Given the description of an element on the screen output the (x, y) to click on. 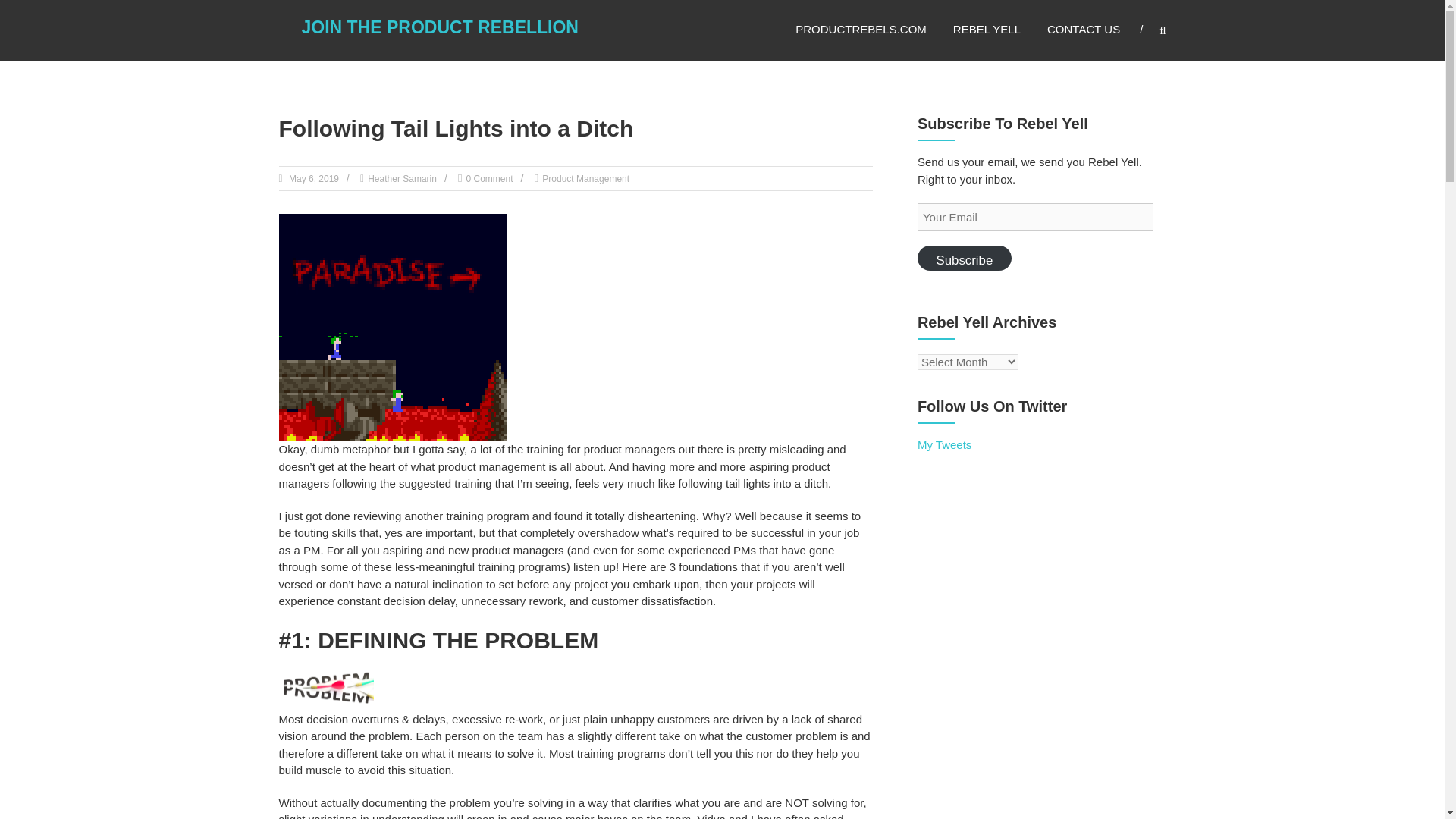
Subscribe (964, 258)
JOIN THE PRODUCT REBELLION (439, 26)
Product Management (584, 178)
Search (1232, 409)
CONTACT US (1082, 29)
Heather Samarin (402, 178)
Join the Product Rebellion (439, 26)
May 6, 2019 (312, 178)
0 Comment (488, 178)
9:06 pm (312, 178)
PRODUCTREBELS.COM (860, 29)
Heather Samarin (402, 178)
REBEL YELL (986, 29)
My Tweets (944, 444)
